Given the description of an element on the screen output the (x, y) to click on. 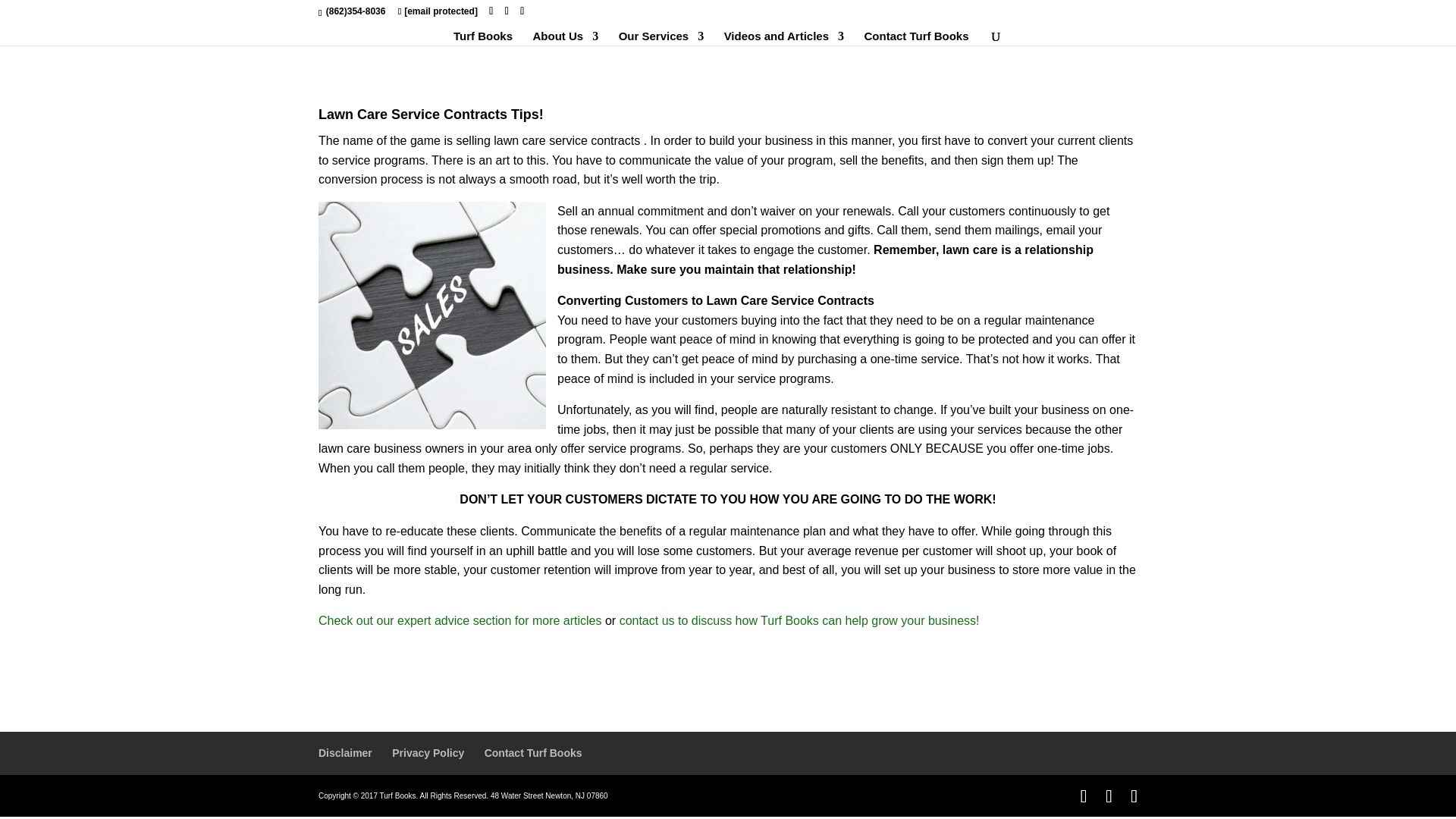
Privacy Policy (427, 752)
About Us (565, 38)
Contact Turf Books (533, 752)
Turf Books (482, 38)
Disclaimer (345, 752)
Contact Turf Books (915, 38)
Videos and Articles (783, 38)
Sign Your Clients Up for Lawn Care Service Contracts. 1 (432, 315)
Our Services (661, 38)
Check out our expert advice section for more articles (460, 620)
